Given the description of an element on the screen output the (x, y) to click on. 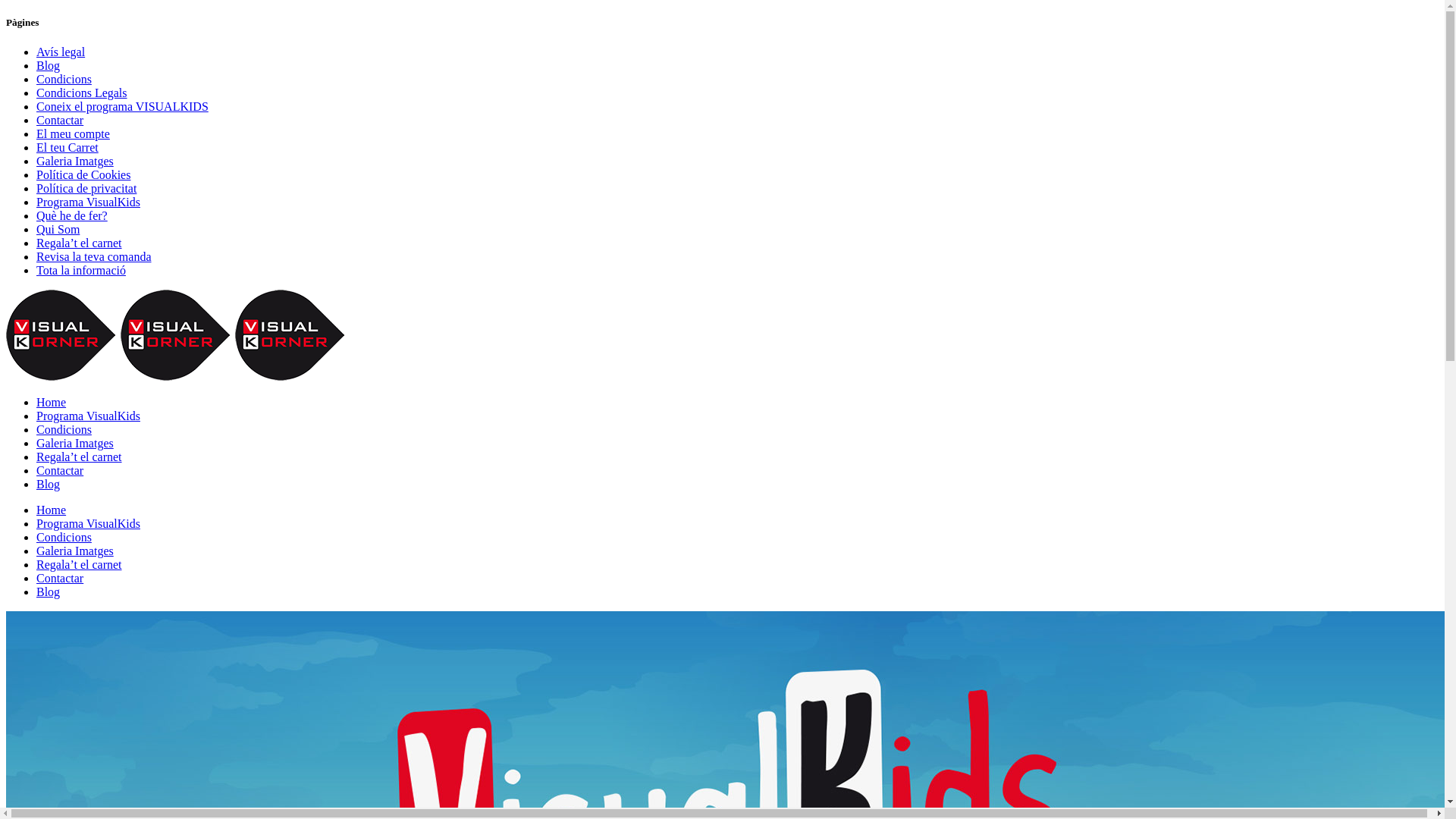
Condicions Element type: text (63, 78)
Galeria Imatges Element type: text (74, 442)
Condicions Element type: text (63, 536)
Home Element type: text (50, 509)
El meu compte Element type: text (72, 133)
Home Element type: text (50, 401)
Contactar Element type: text (59, 577)
Blog Element type: text (47, 65)
Programa VisualKids Element type: text (88, 201)
El teu Carret Element type: text (67, 147)
Coneix el programa VISUALKIDS Element type: text (122, 106)
Condicions Element type: text (63, 429)
Contactar Element type: text (59, 119)
Programa VisualKids Element type: text (88, 415)
Blog Element type: text (47, 483)
Contactar Element type: text (59, 470)
Revisa la teva comanda Element type: text (93, 256)
Blog Element type: text (47, 591)
Programa VisualKids Element type: text (88, 523)
Galeria Imatges Element type: text (74, 550)
Qui Som Element type: text (57, 228)
Condicions Legals Element type: text (81, 92)
Galeria Imatges Element type: text (74, 160)
